Given the description of an element on the screen output the (x, y) to click on. 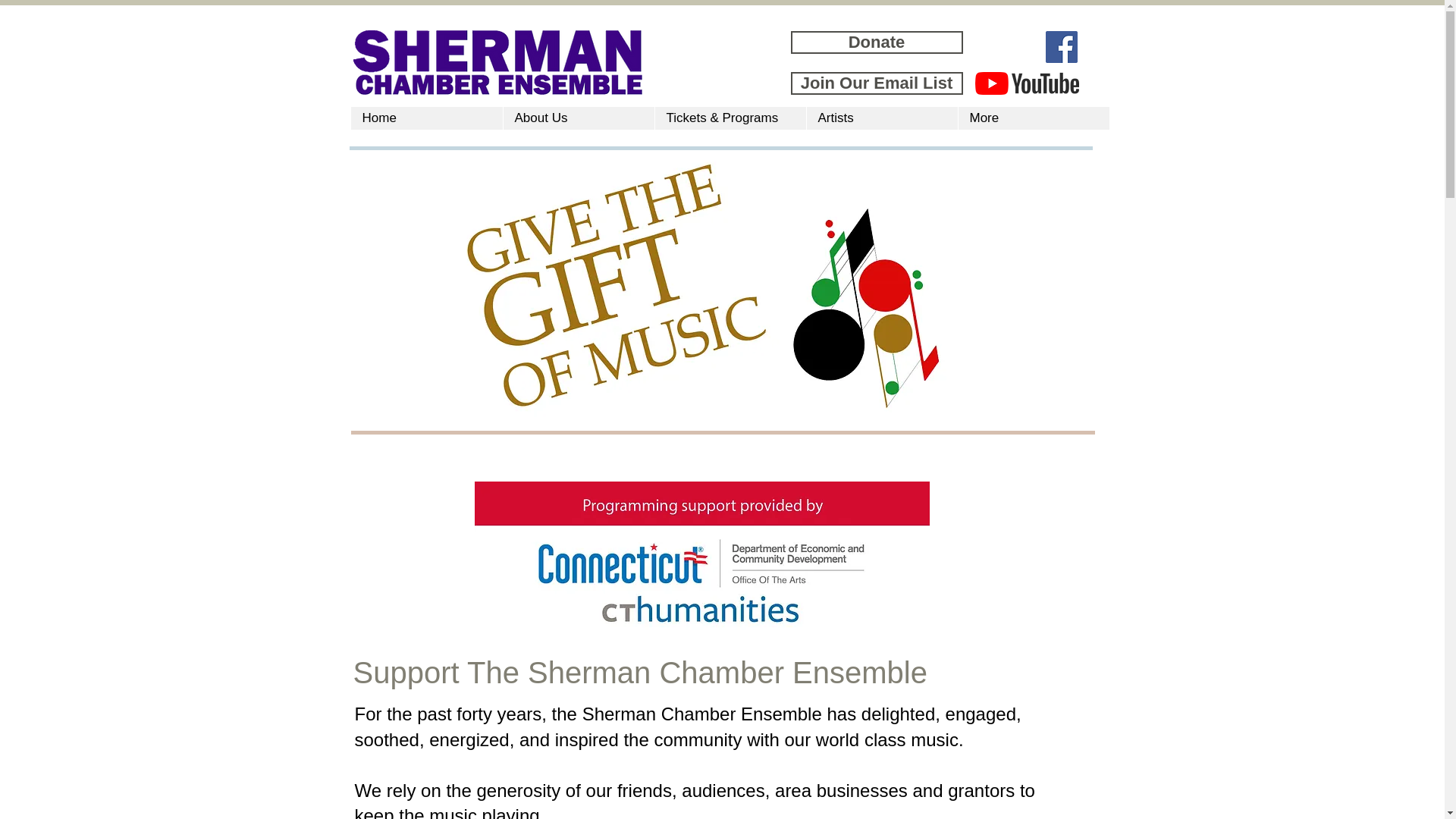
About Us (577, 118)
Donate (876, 42)
Red Sponsors.jpg (702, 559)
Artists (880, 118)
Home (426, 118)
Join Our Email List (876, 83)
